Given the description of an element on the screen output the (x, y) to click on. 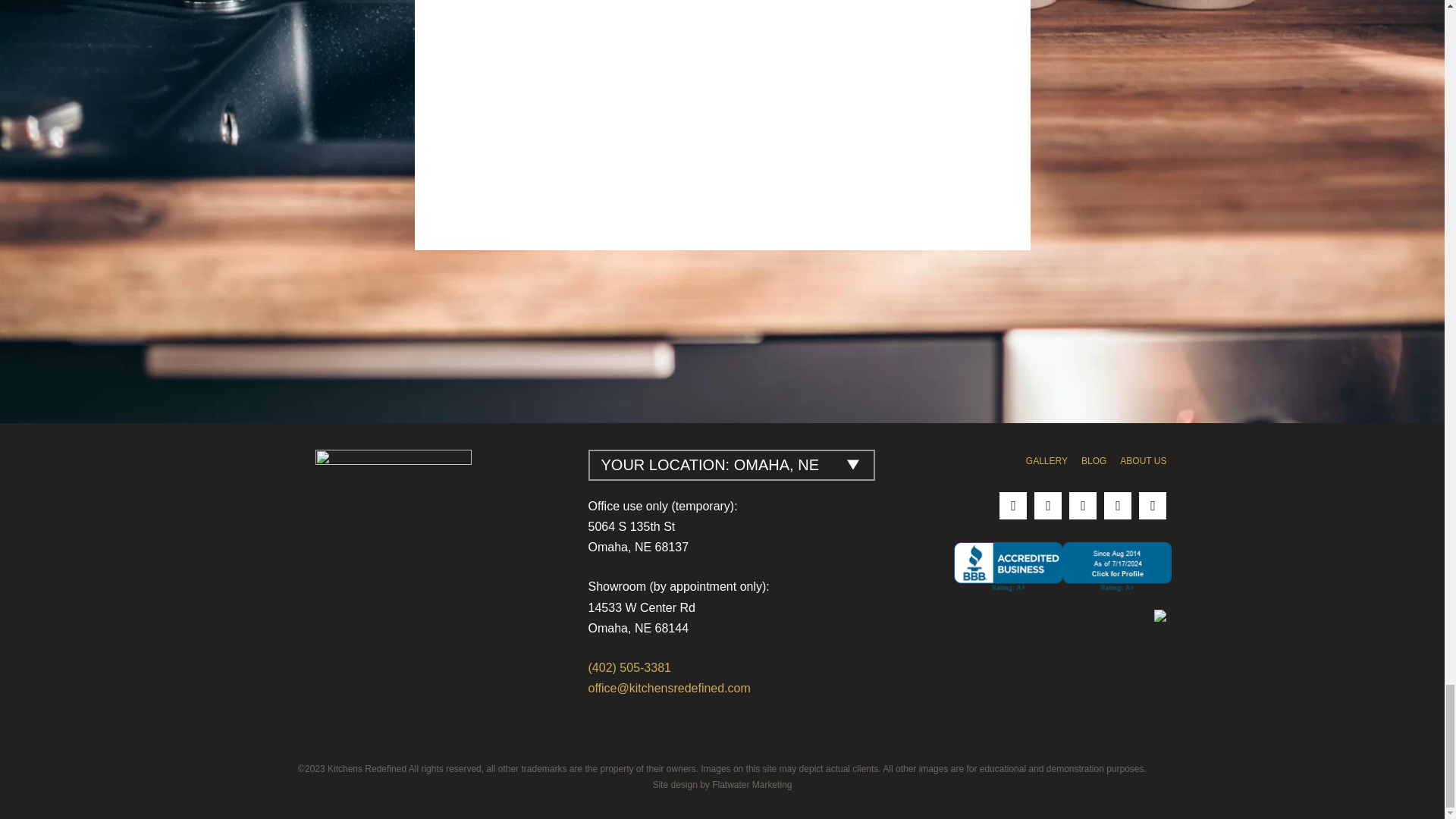
Kitchens Redefined, Kitchen Remodel, Omaha, NE (1062, 568)
